Given the description of an element on the screen output the (x, y) to click on. 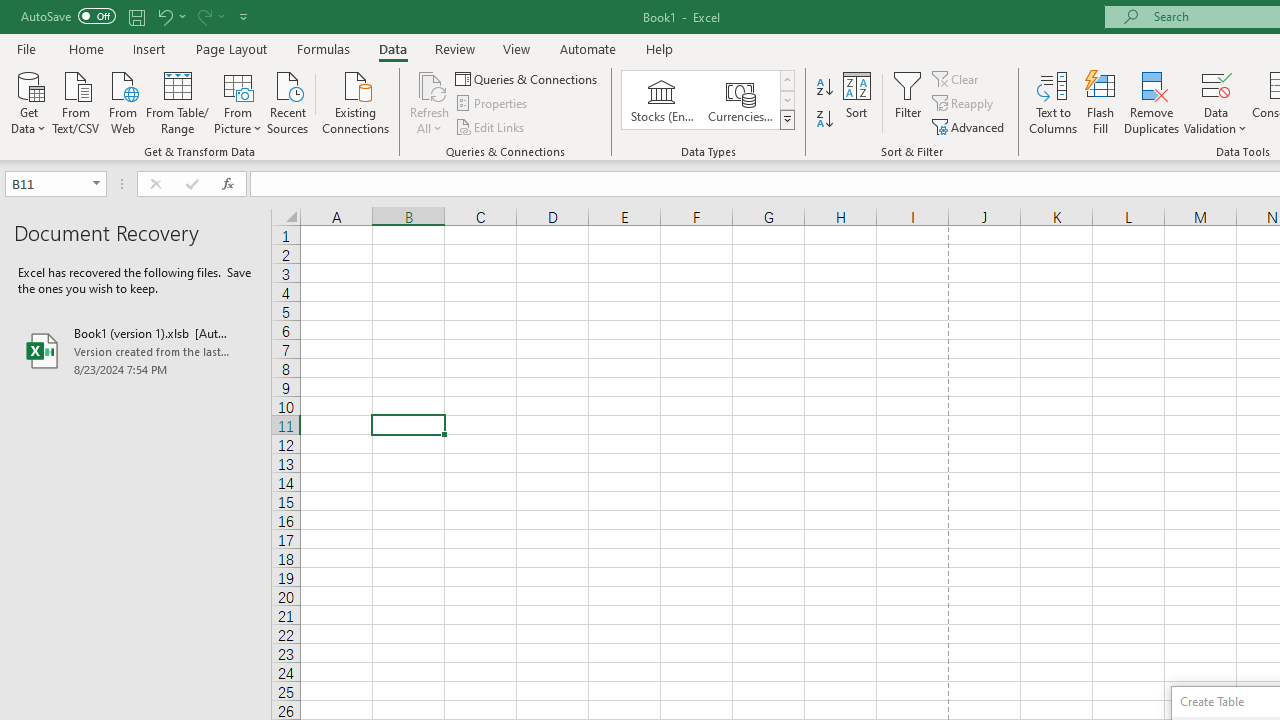
Stocks (English) (662, 100)
Properties (492, 103)
Existing Connections (355, 101)
Reapply (964, 103)
Sort... (856, 102)
